Given the description of an element on the screen output the (x, y) to click on. 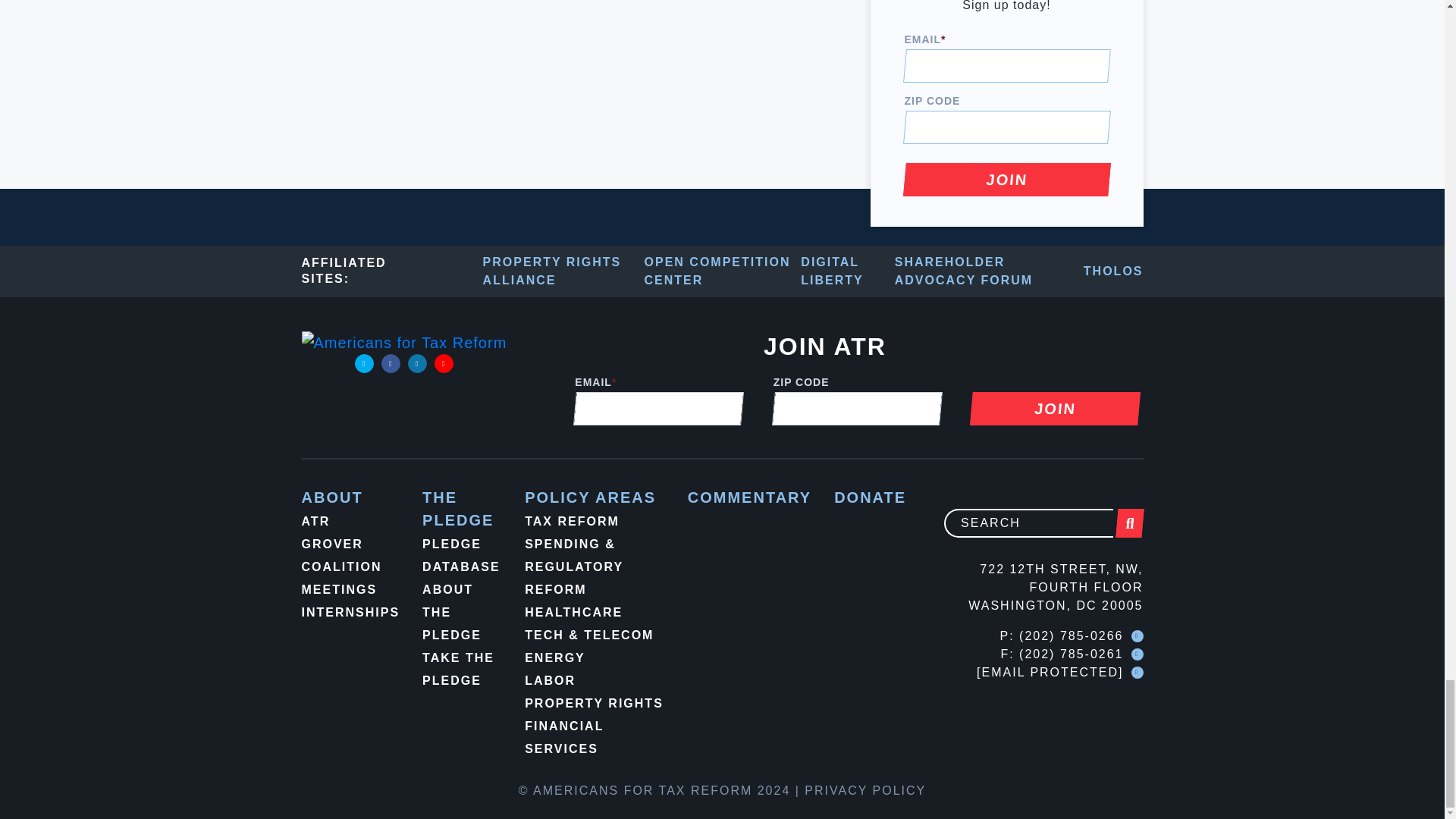
Join (1005, 179)
Join (1053, 408)
